Given the description of an element on the screen output the (x, y) to click on. 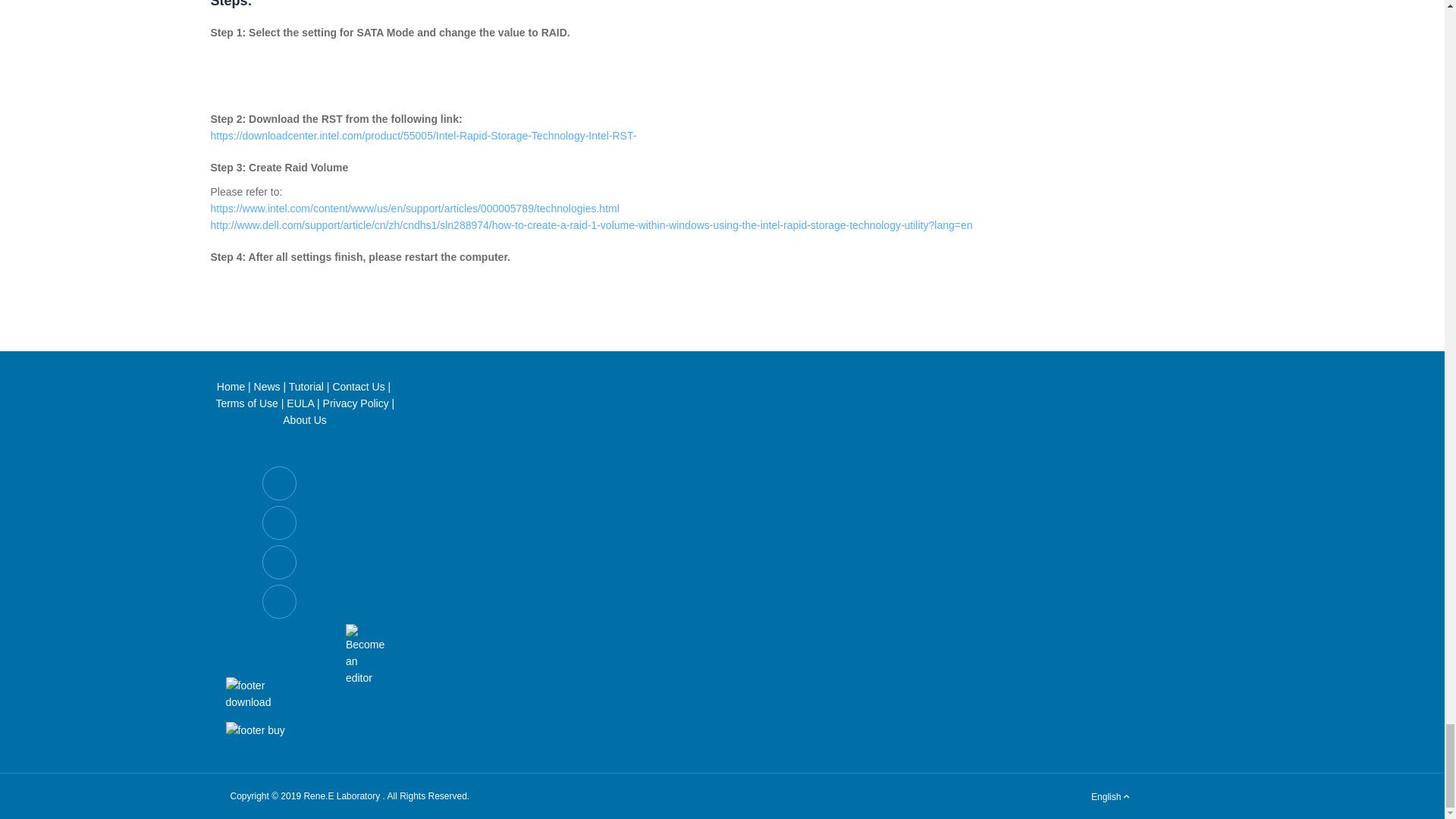
Facebook (279, 483)
Twitter (279, 522)
YouTube (279, 562)
